Given the description of an element on the screen output the (x, y) to click on. 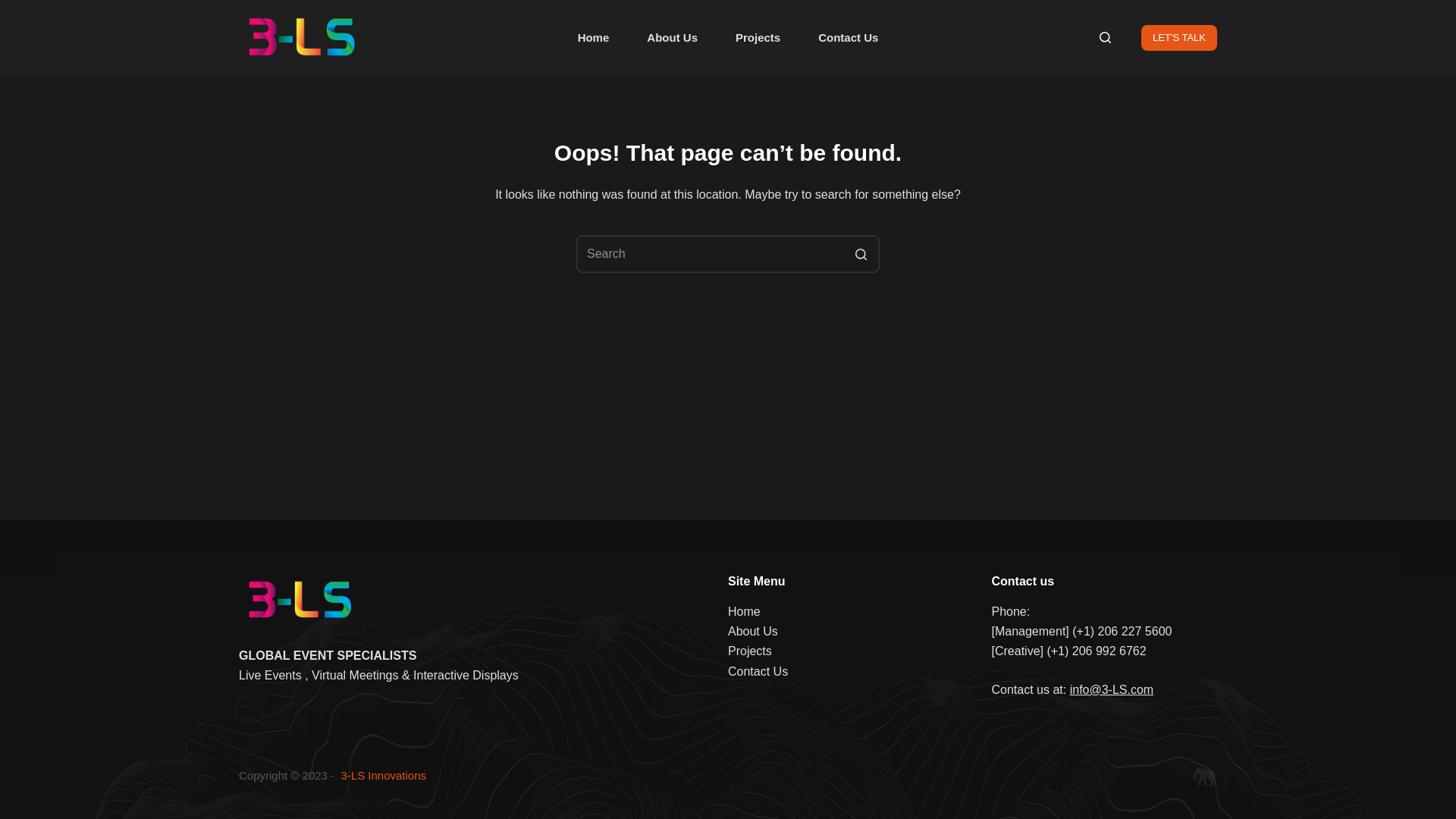
Projects Element type: text (757, 37)
info@3-LS.com Element type: text (1112, 689)
Contact Us Element type: text (757, 671)
Home Element type: text (744, 611)
Contact Us Element type: text (848, 37)
Home Element type: text (593, 37)
About Us Element type: text (671, 37)
3-LS Innovations Element type: text (383, 774)
Search for... Element type: hover (727, 254)
About Us Element type: text (753, 630)
Projects Element type: text (749, 650)
LET'S TALK Element type: text (1179, 37)
Skip to content Element type: text (15, 7)
